Given the description of an element on the screen output the (x, y) to click on. 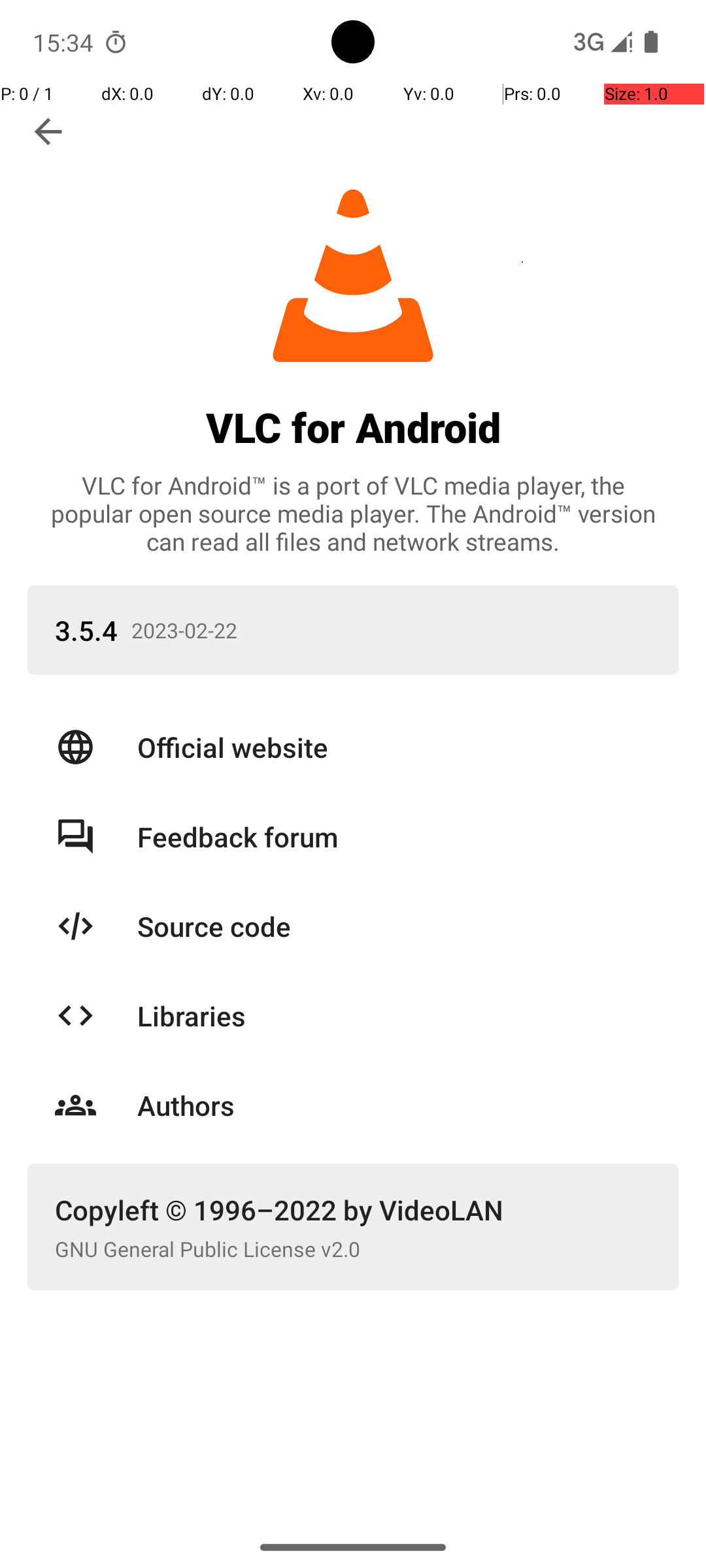
VLC for Android Element type: android.widget.TextView (352, 426)
VLC for Android™ is a port of VLC media player, the popular open source media player. The Android™ version can read all files and network streams. Element type: android.widget.TextView (352, 512)
3.5.4 Element type: android.widget.TextView (85, 629)
2023-02-22 Element type: android.widget.TextView (404, 630)
Official website Element type: android.widget.TextView (394, 746)
Feedback forum Element type: android.widget.TextView (394, 836)
Source code Element type: android.widget.TextView (394, 925)
Libraries Element type: android.widget.TextView (394, 1015)
Authors Element type: android.widget.TextView (394, 1104)
Copyleft © 1996–2022 by VideoLAN Element type: android.widget.TextView (352, 1209)
GNU General Public License v2.0 Element type: android.widget.TextView (352, 1248)
